Given the description of an element on the screen output the (x, y) to click on. 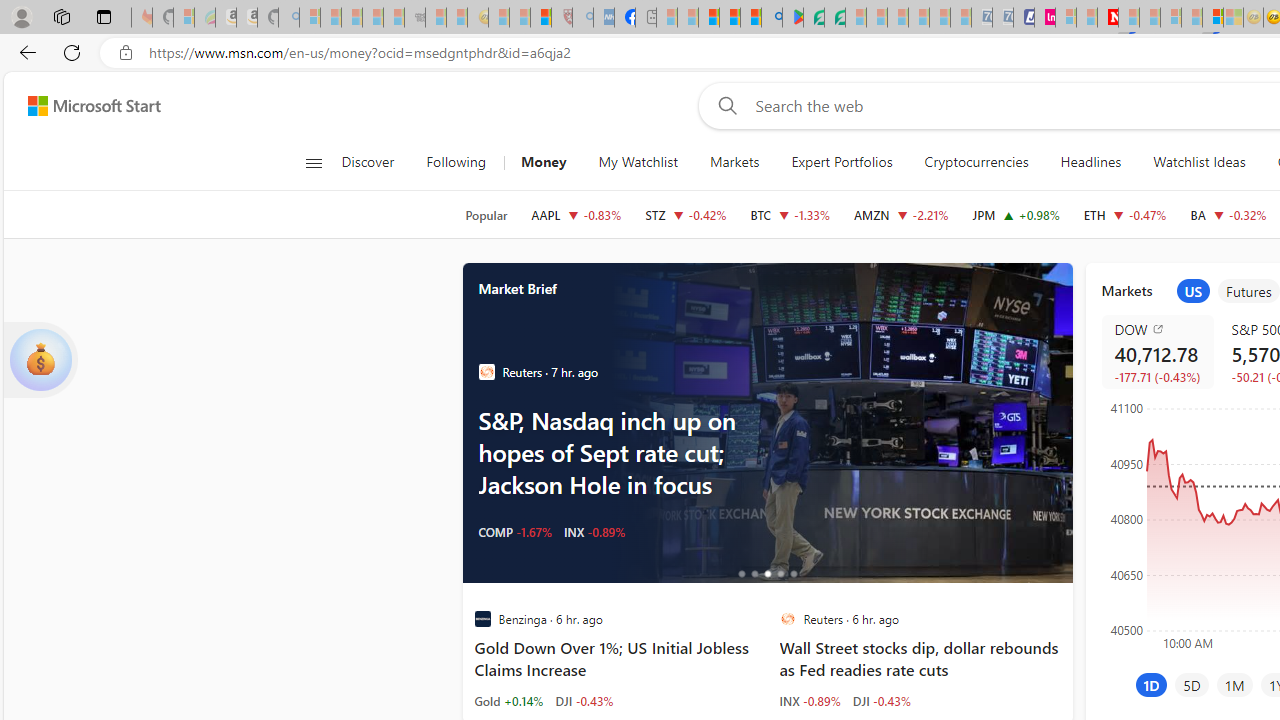
BA THE BOEING COMPANY decrease 172.87 -0.56 -0.32% (1227, 214)
Money (543, 162)
USOIL -0.07% (514, 532)
Headlines (1090, 162)
Microsoft Word - consumer-privacy address update 2.2021 (834, 17)
New Report Confirms 2023 Was Record Hot | Watch - Sleeping (394, 17)
Money (543, 162)
